Given the description of an element on the screen output the (x, y) to click on. 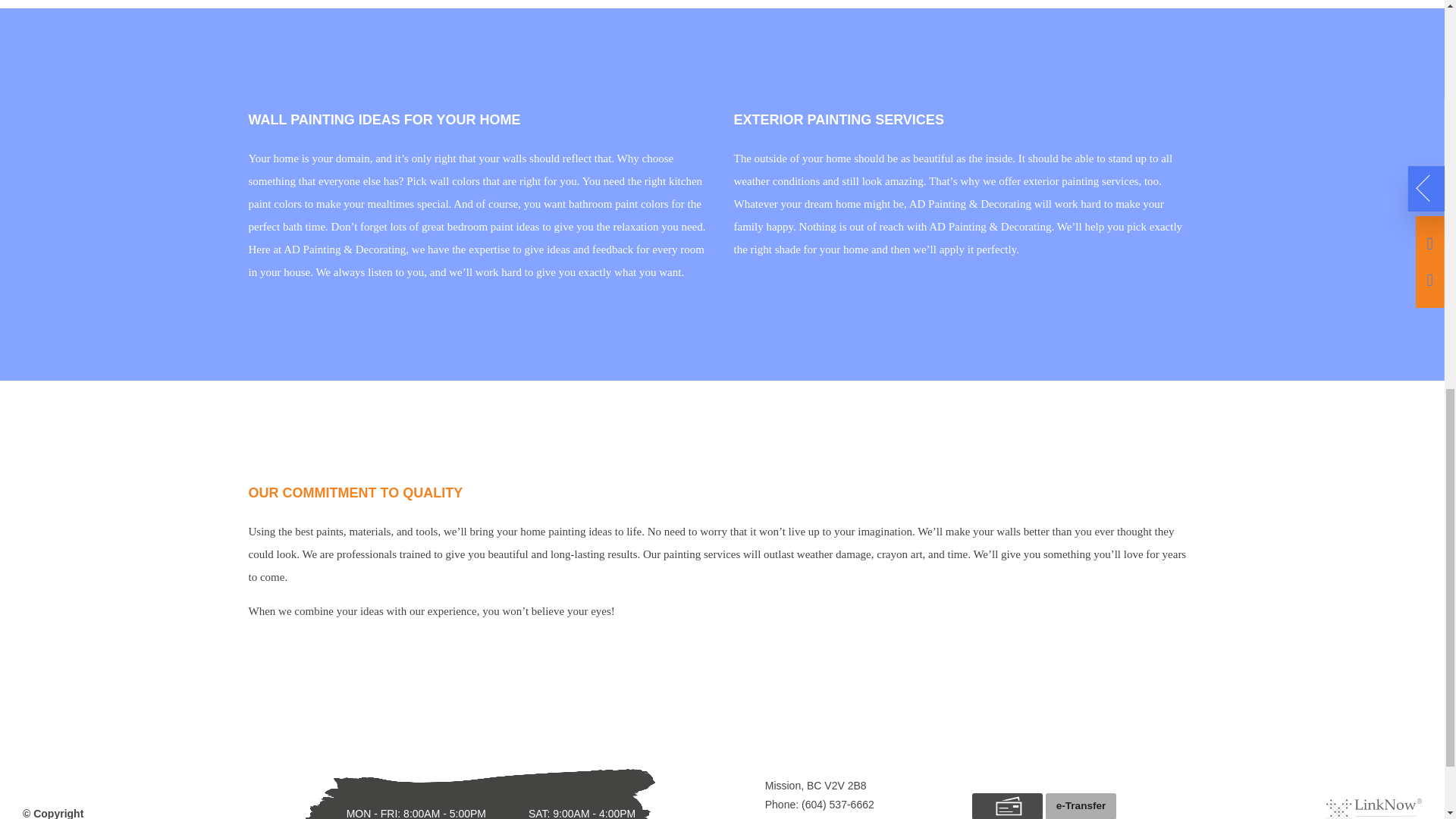
e-Transfer (1080, 806)
